Given the description of an element on the screen output the (x, y) to click on. 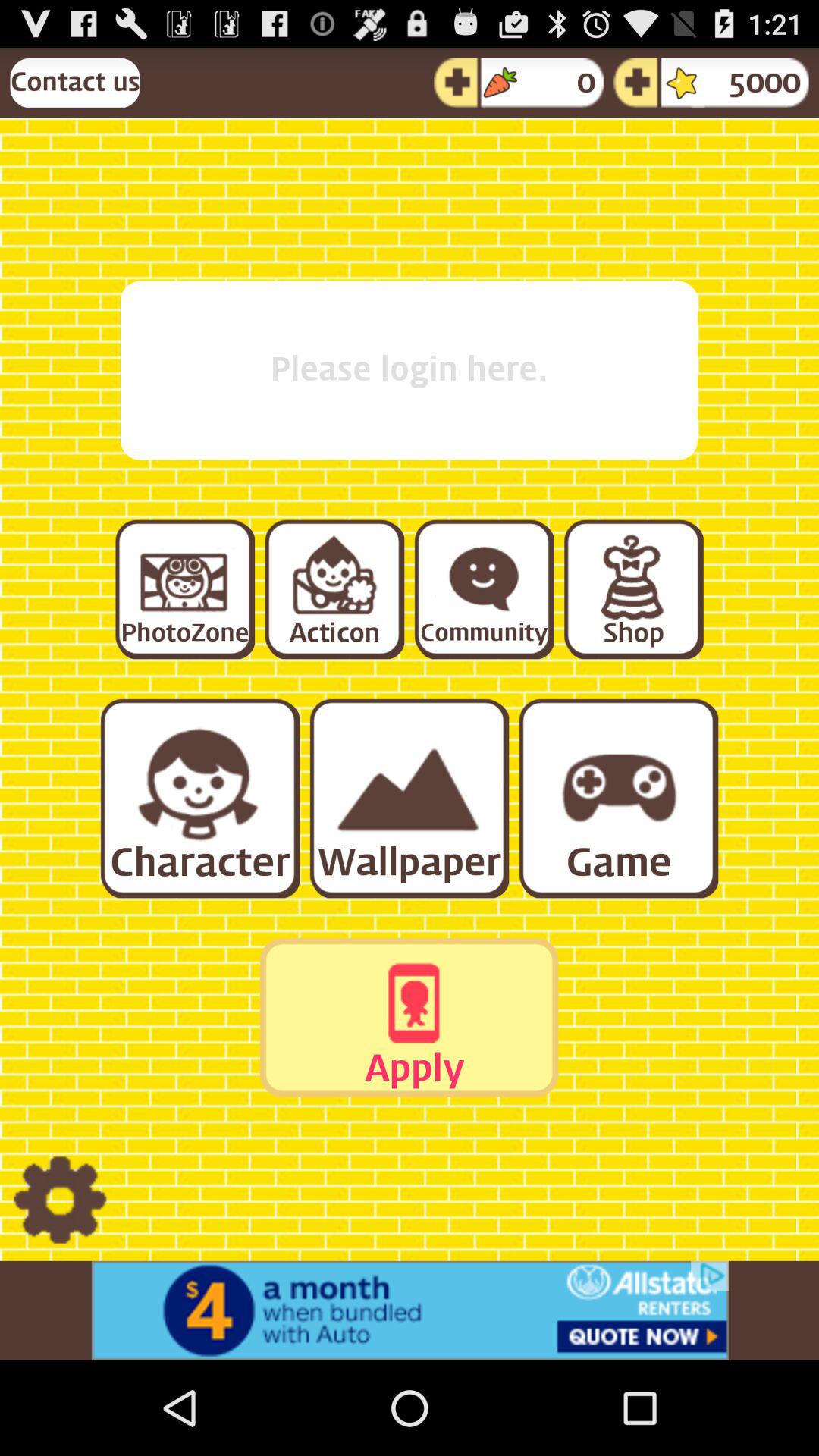
go to settings (59, 1200)
